Given the description of an element on the screen output the (x, y) to click on. 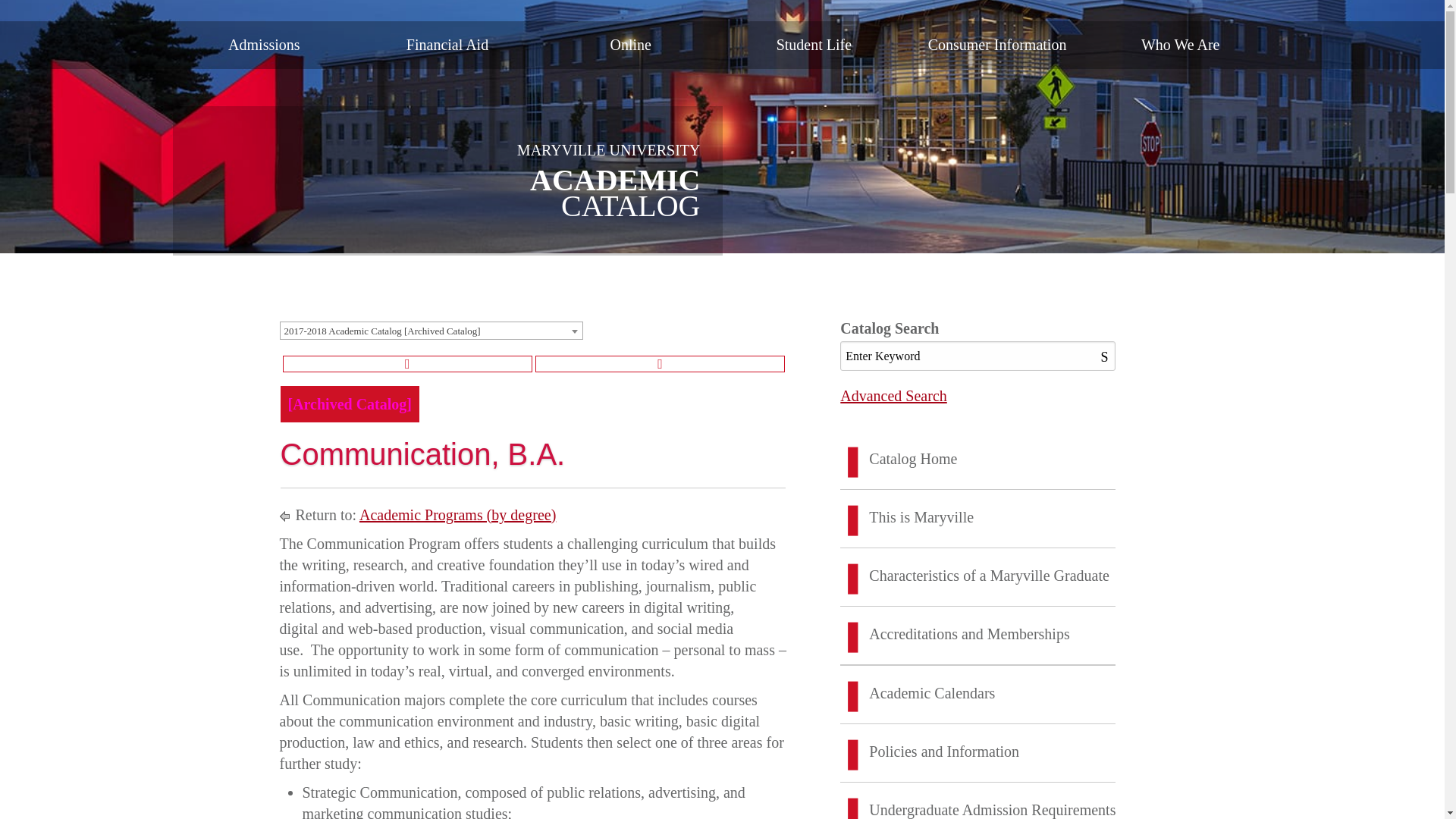
Student Life (813, 44)
Enter Keyword   (977, 356)
Financial Aid (446, 44)
Who We Are (1180, 44)
Select a Catalog (430, 330)
Search (1107, 356)
Online (630, 44)
Consumer Information (997, 44)
Admissions (264, 44)
Search Keyword Field, required (977, 356)
